Given the description of an element on the screen output the (x, y) to click on. 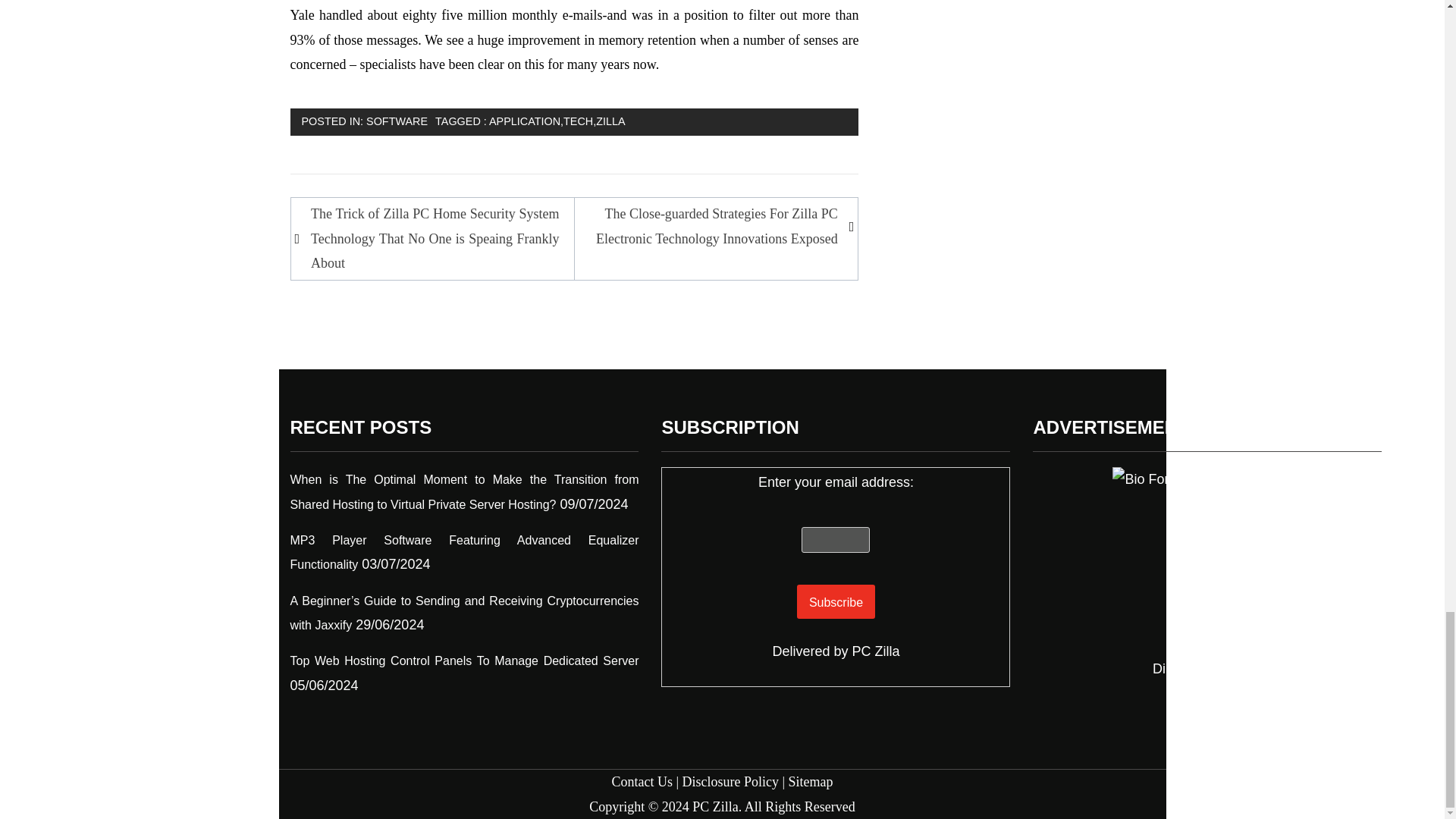
Subscribe (835, 601)
Bio Forum (1206, 561)
